Given the description of an element on the screen output the (x, y) to click on. 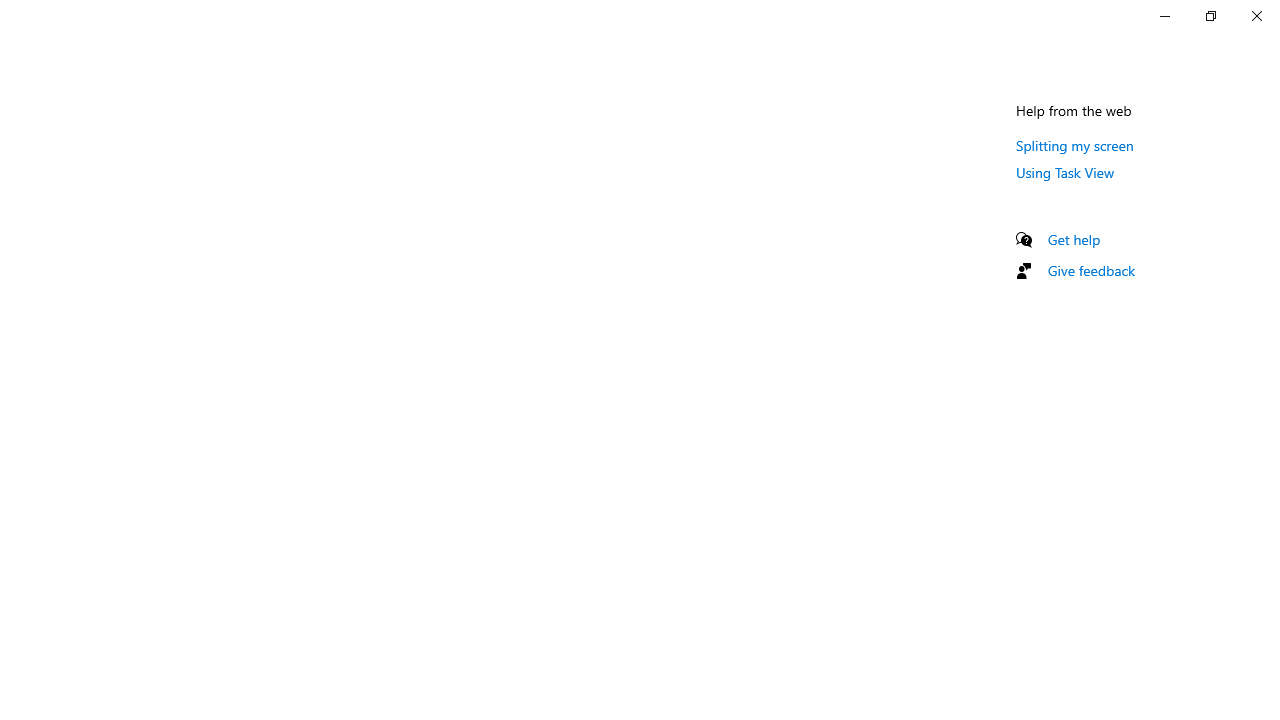
Using Task View (1065, 172)
Get help (1074, 239)
Minimize Settings (1164, 15)
Give feedback (1091, 270)
Splitting my screen (1075, 145)
Restore Settings (1210, 15)
Close Settings (1256, 15)
